Given the description of an element on the screen output the (x, y) to click on. 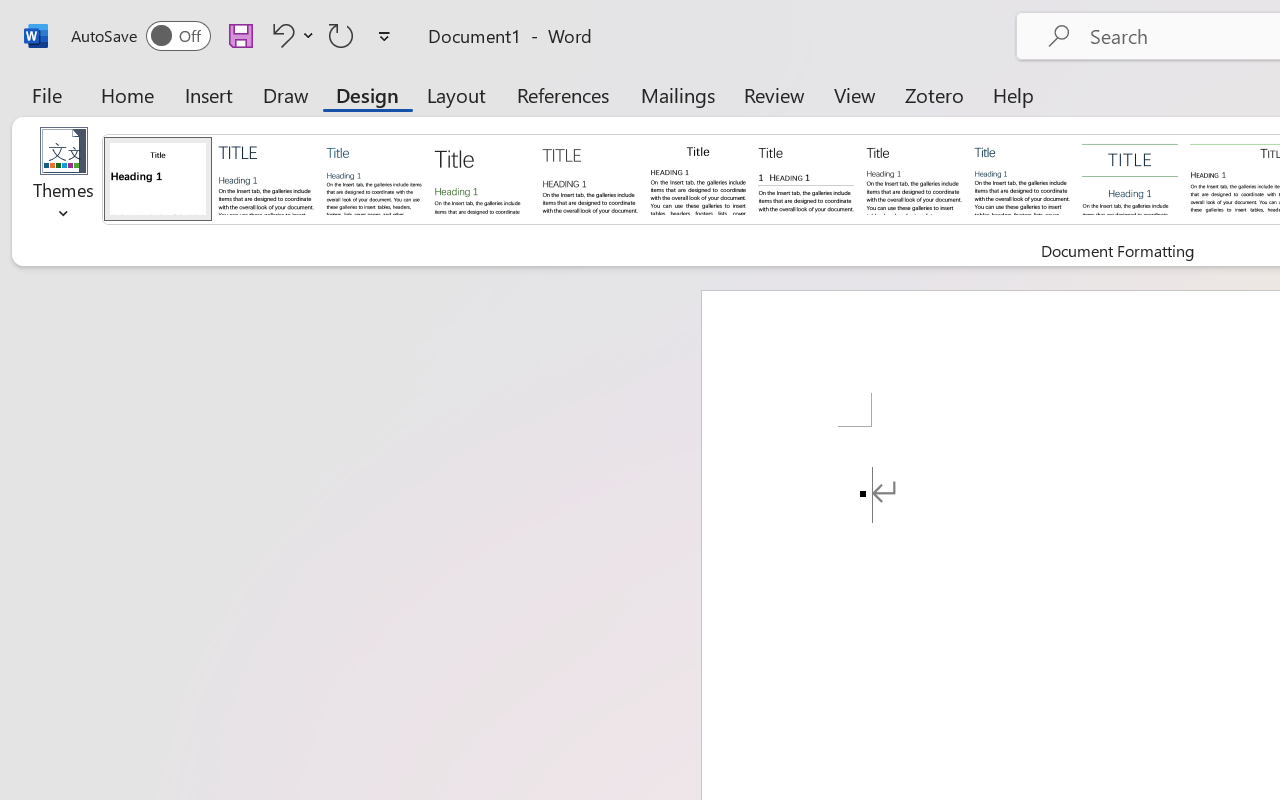
Black & White (Capitalized) (589, 178)
Black & White (Numbered) (806, 178)
Document (157, 178)
Repeat Style (341, 35)
Black & White (Word 2013) (913, 178)
Undo Apply Quick Style (280, 35)
Basic (Stylish) (481, 178)
Casual (1021, 178)
Basic (Simple) (373, 178)
